Given the description of an element on the screen output the (x, y) to click on. 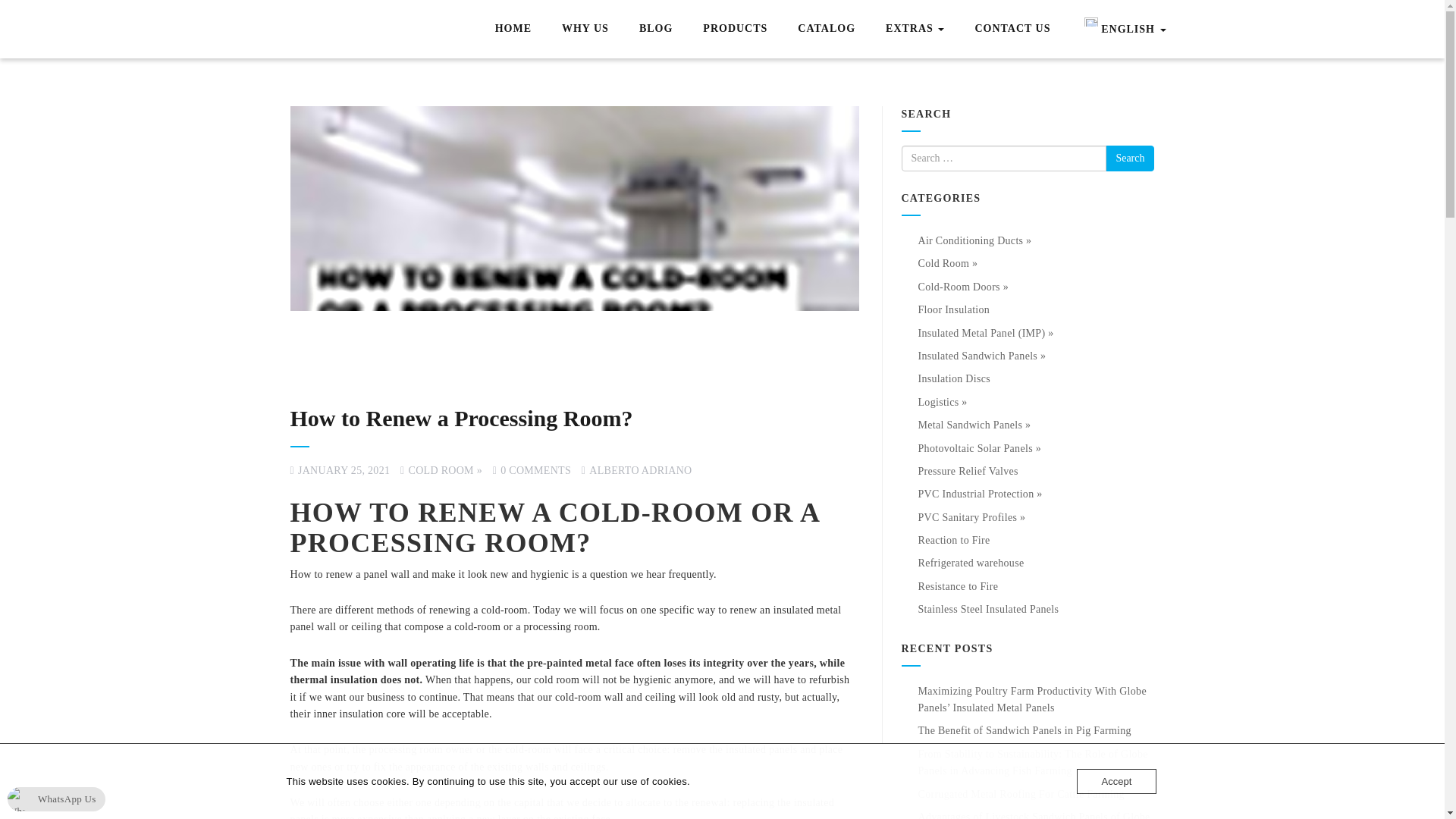
How to Renew a Processing Room? (460, 417)
WHY US (585, 29)
 ENGLISH (1123, 28)
PRODUCTS (735, 29)
CATALOG (826, 29)
CONTACT US (1011, 29)
EXTRAS (914, 28)
EXTRAS (914, 28)
WHY US (585, 29)
Search (1129, 158)
BLOG (655, 29)
Search (1129, 158)
PRODUCTS (735, 29)
HOME (513, 29)
HOME (513, 29)
